Given the description of an element on the screen output the (x, y) to click on. 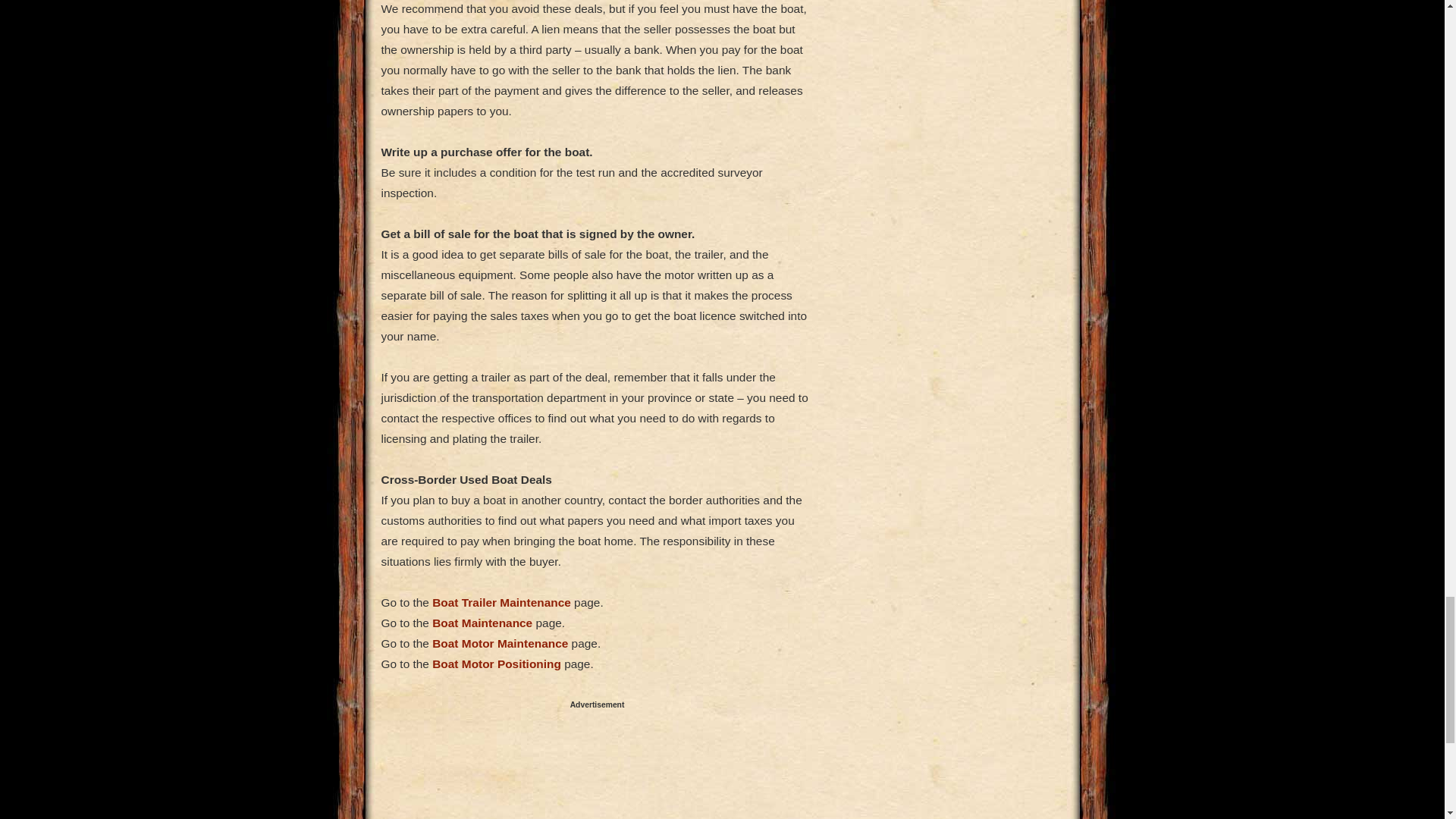
Boat Maintenance (482, 622)
Boat Motor Positioning (496, 663)
Boat Motor Maintenance (499, 643)
Boat Trailer Maintenance (501, 602)
